Given the description of an element on the screen output the (x, y) to click on. 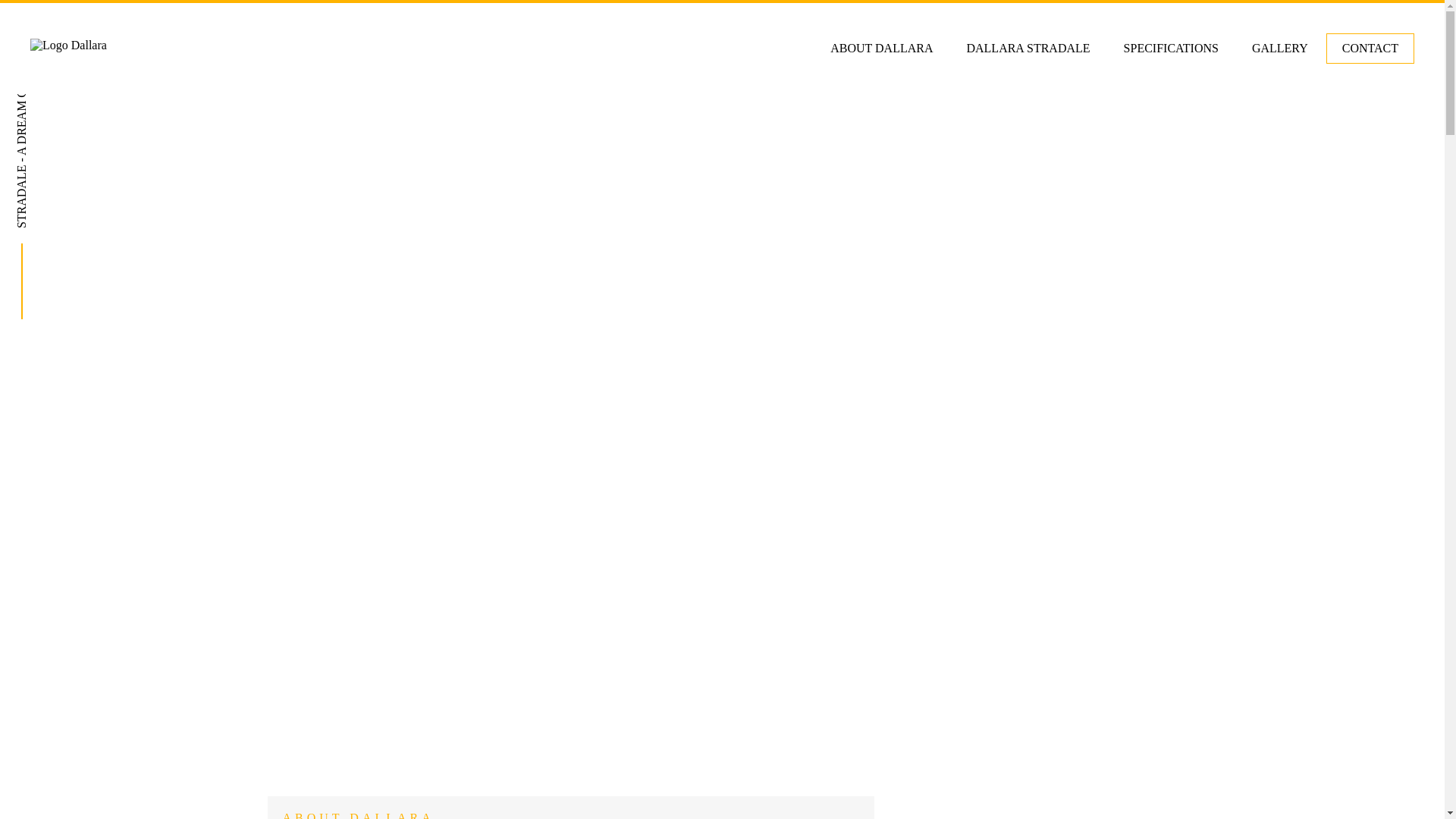
SPECIFICATIONS Element type: text (1170, 48)
CONTACT Element type: text (1370, 48)
ABOUT DALLARA Element type: text (881, 48)
GALLERY Element type: text (1279, 48)
DALLARA STRADALE Element type: text (1027, 48)
